Given the description of an element on the screen output the (x, y) to click on. 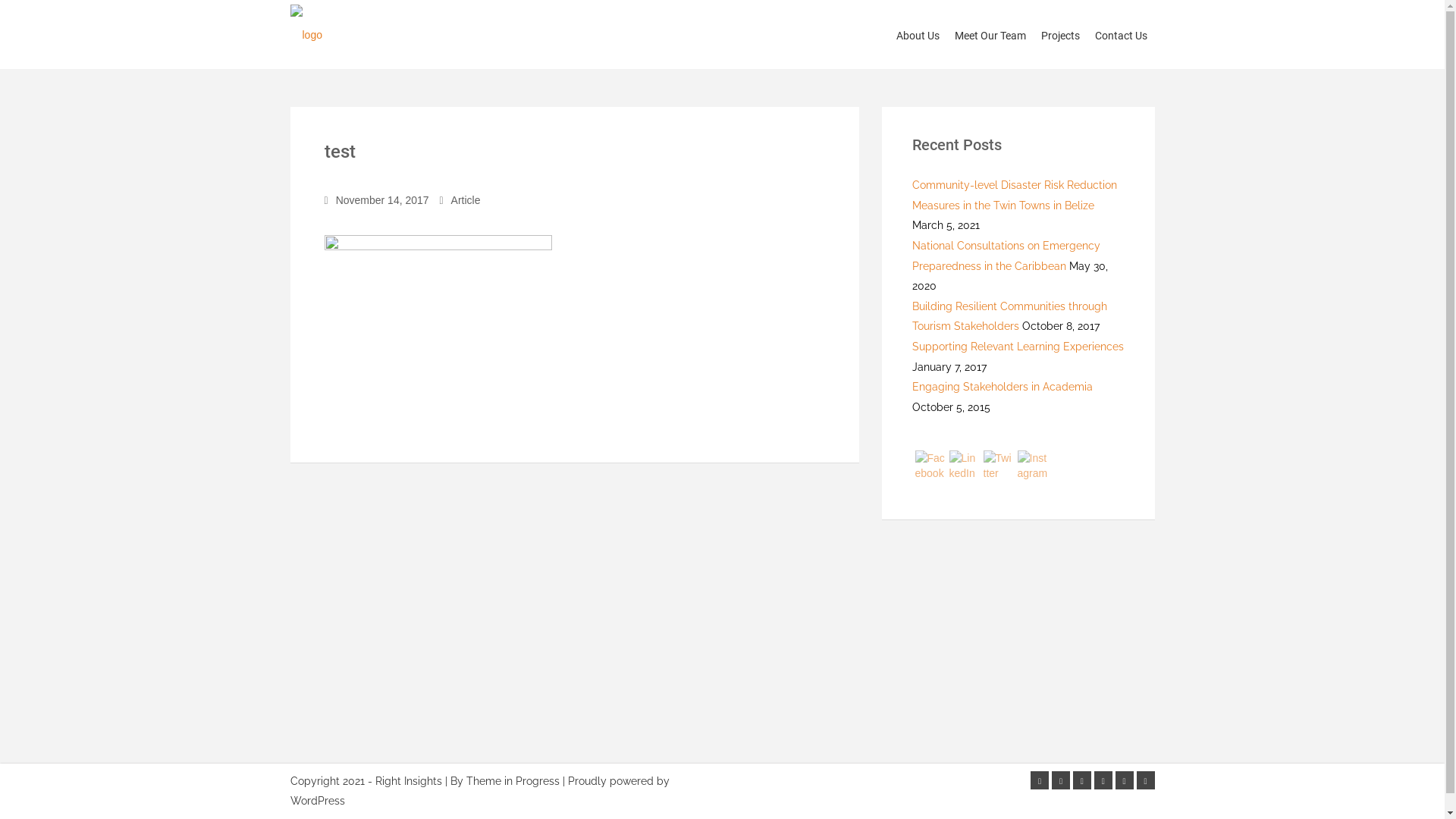
Twitter Element type: hover (1060, 780)
Youtube Element type: hover (1103, 780)
Contact Us Element type: text (1120, 36)
Building Resilient Communities through Tourism Stakeholders Element type: text (1008, 316)
Theme in Progress Element type: text (511, 781)
Supporting Relevant Learning Experiences Element type: text (1017, 346)
Linkedin Element type: hover (1082, 780)
Facebook Element type: hover (929, 465)
Instagram Element type: hover (1124, 780)
LinkedIn Element type: hover (964, 465)
Projects Element type: text (1059, 36)
Proudly powered by WordPress Element type: text (478, 791)
Instagram Element type: hover (1032, 465)
Engaging Stakeholders in Academia Element type: text (1001, 386)
Twitter Element type: hover (997, 465)
Email Element type: hover (1144, 780)
About Us Element type: text (917, 36)
Meet Our Team Element type: text (989, 36)
Facebook Element type: hover (1039, 780)
